Given the description of an element on the screen output the (x, y) to click on. 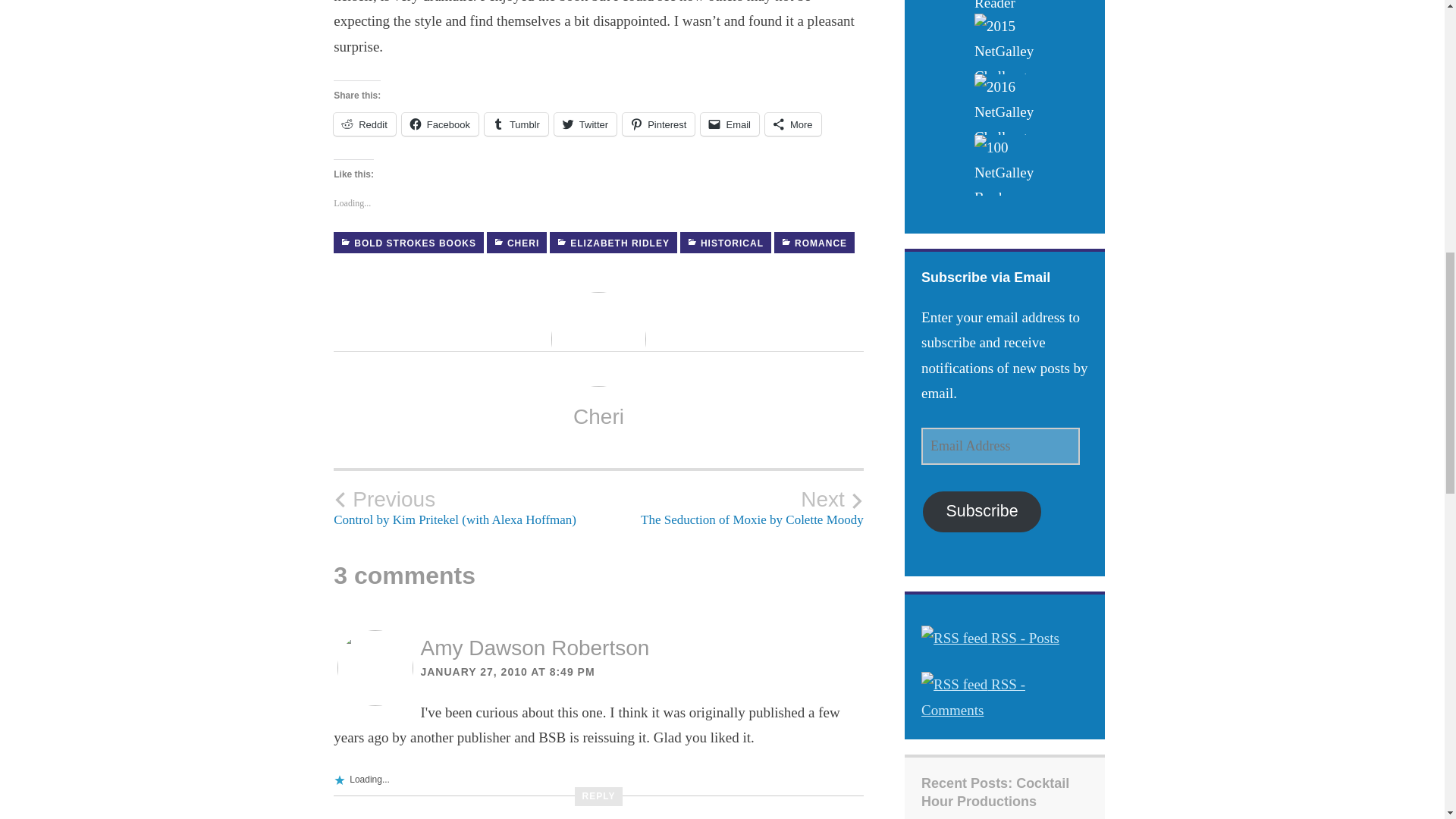
ELIZABETH RIDLEY (613, 242)
Professional Reader (1004, 6)
HISTORICAL (725, 242)
Click to share on Tumblr (516, 124)
JANUARY 27, 2010 AT 8:49 PM (507, 671)
Click to share on Facebook (440, 124)
Twitter (584, 124)
Click to email a link to a friend (729, 124)
More (793, 124)
Click to share on Pinterest (658, 124)
Cheri (598, 416)
REPLY (599, 796)
Click to share on Reddit (730, 506)
Email (364, 124)
